Given the description of an element on the screen output the (x, y) to click on. 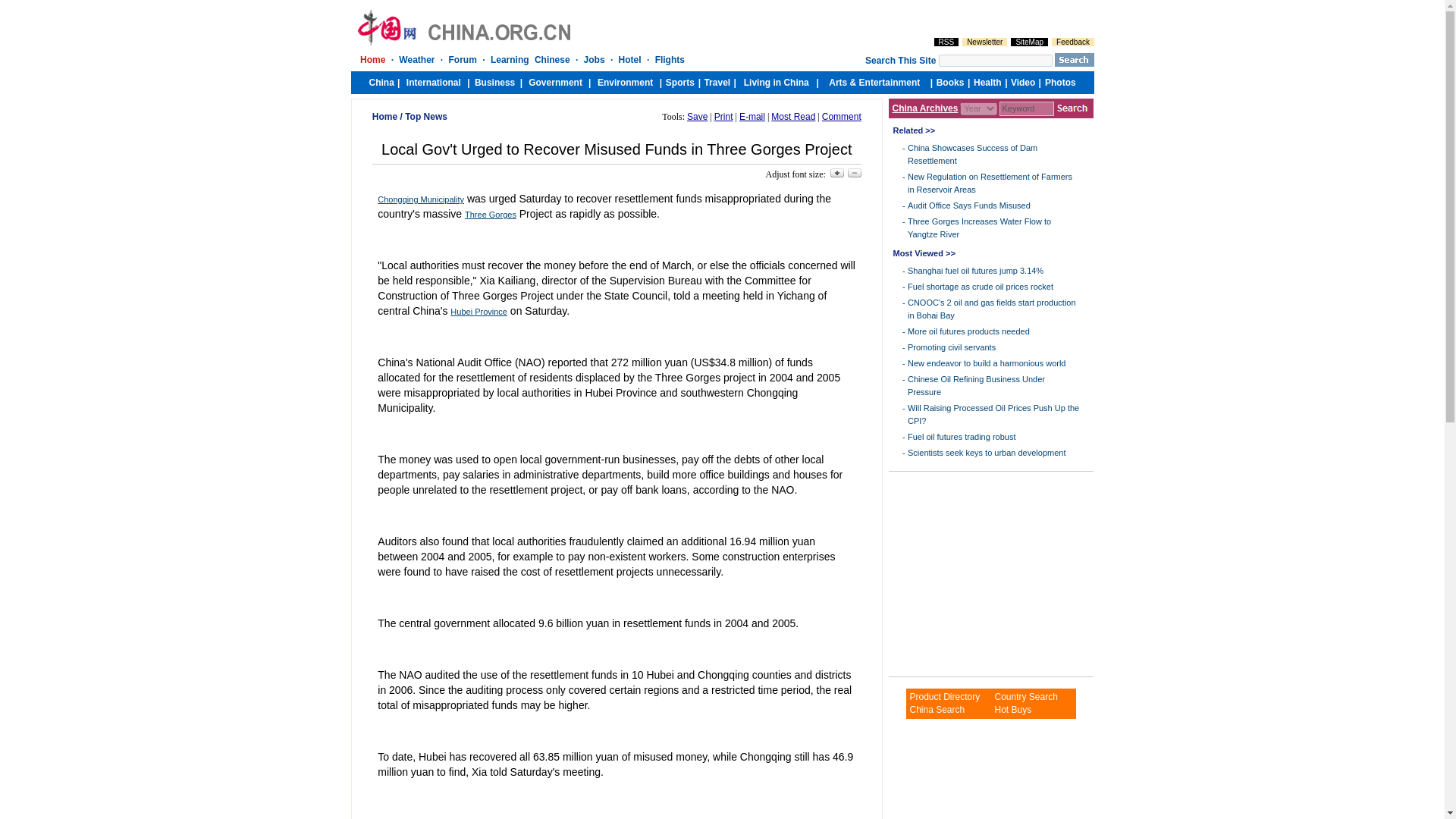
Comment (841, 116)
Alibaba Directory (943, 696)
New Regulation on Resettlement of Farmers in Reservoir Areas (989, 182)
Top News (425, 116)
Hot Products (1012, 709)
CNOOC's 2 oil and gas fields start production in Bohai Bay (991, 309)
China Suppliers (1025, 696)
Home (384, 116)
Print (723, 116)
Save (697, 116)
